Given the description of an element on the screen output the (x, y) to click on. 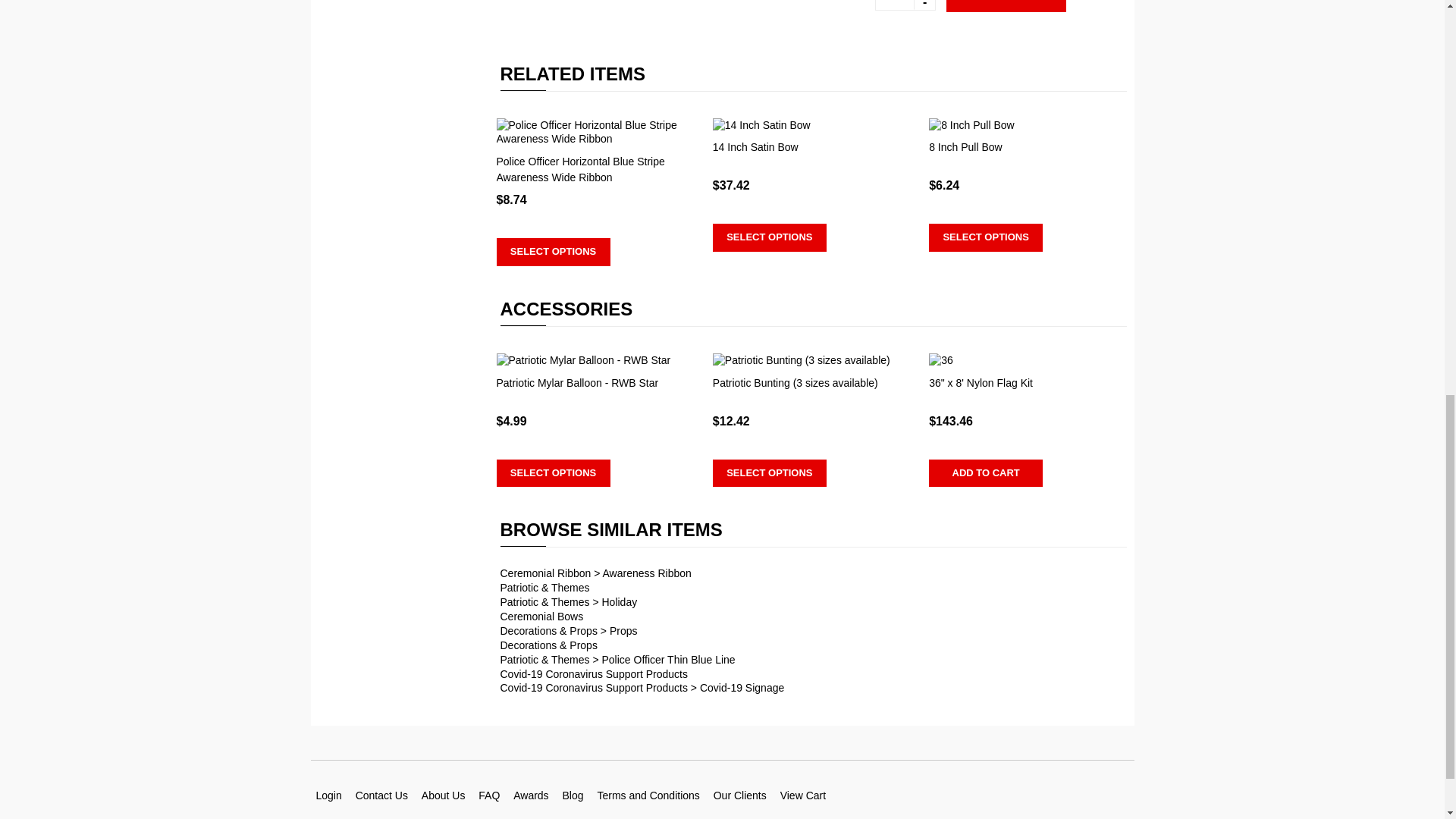
1 (905, 5)
